Given the description of an element on the screen output the (x, y) to click on. 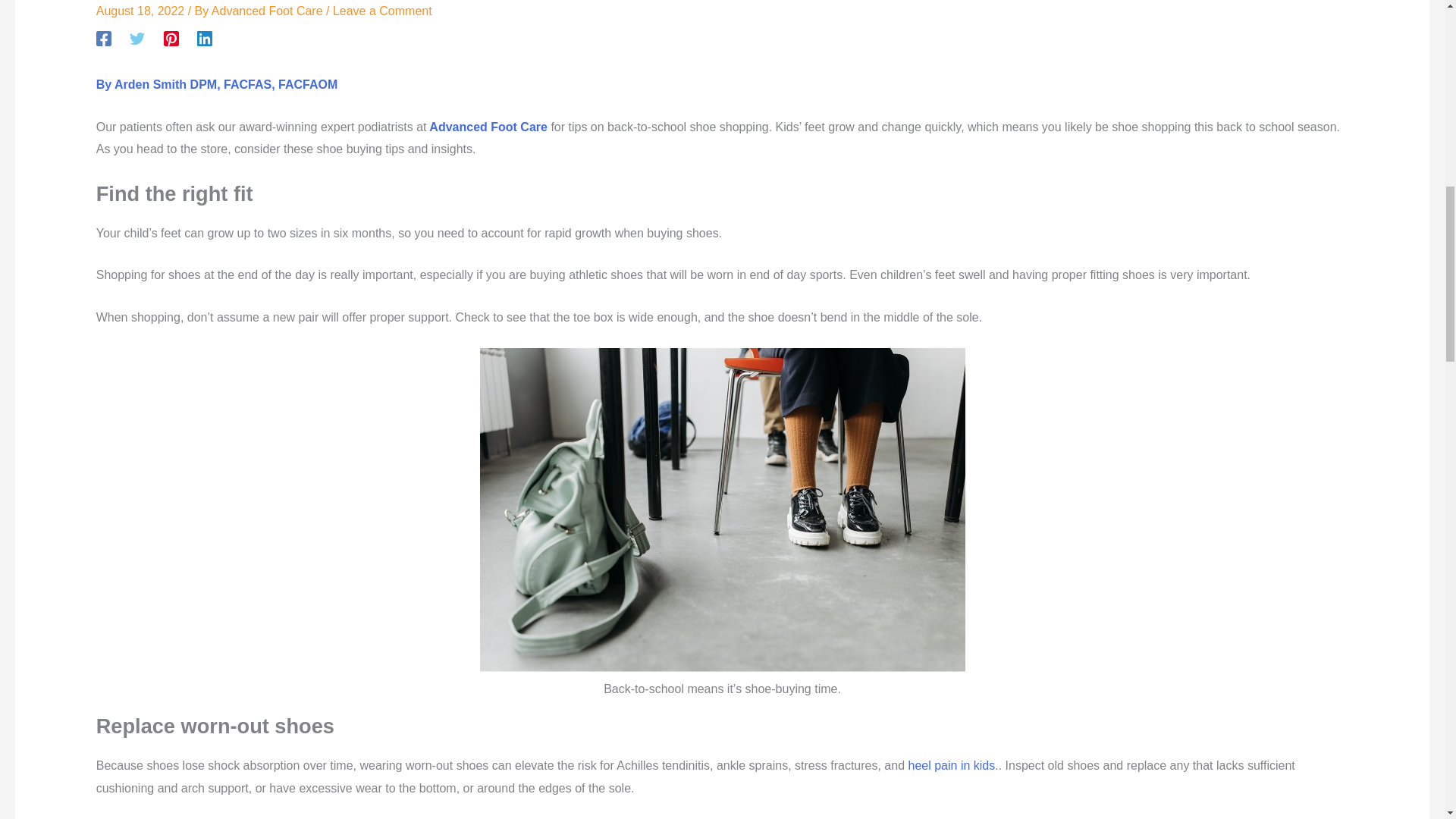
View all posts by Advanced Foot Care (268, 10)
